Given the description of an element on the screen output the (x, y) to click on. 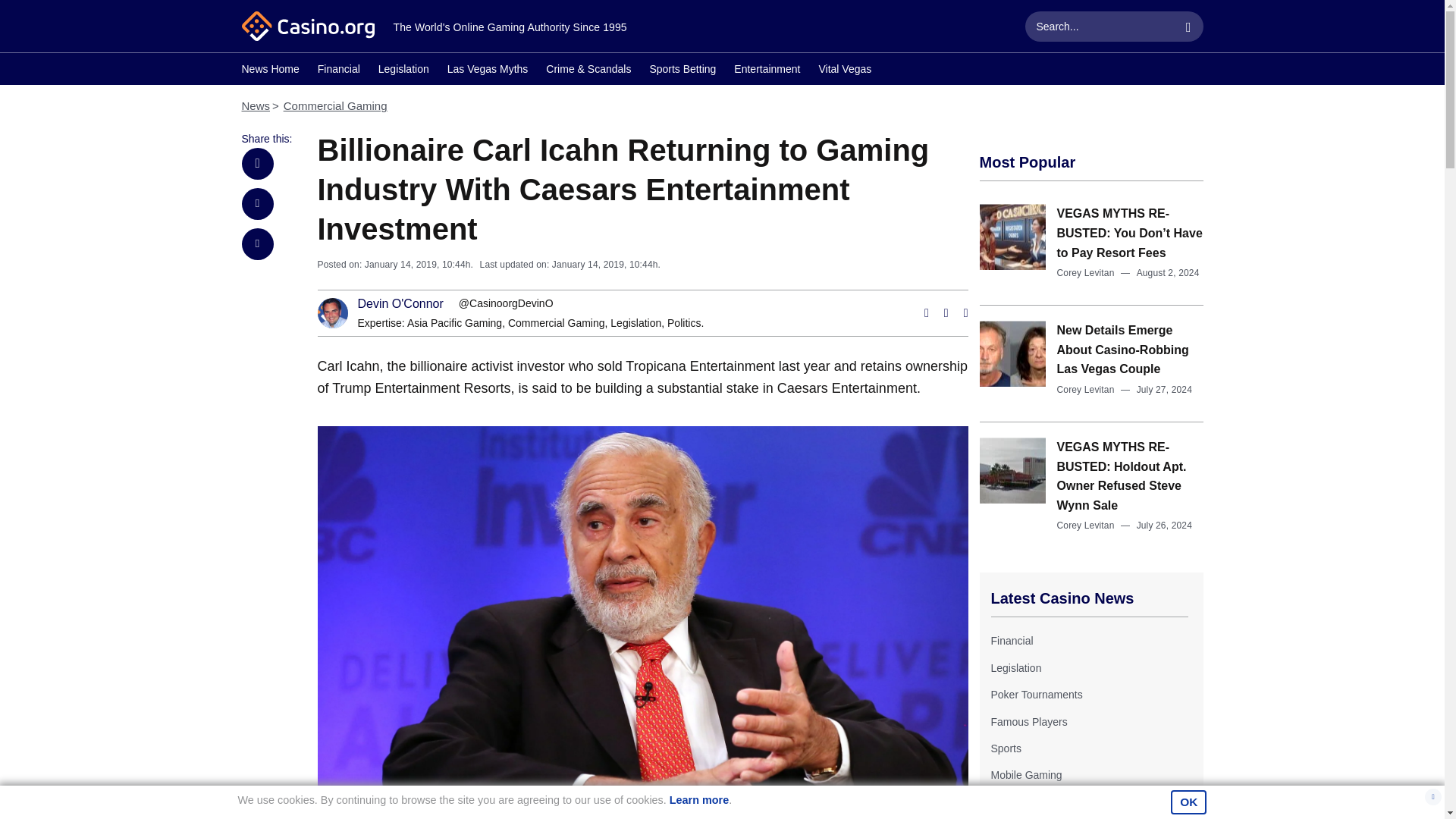
Financial (1011, 640)
Financial (338, 70)
Asia Pacific Gaming (454, 322)
Mobile Gaming (1025, 775)
Legislation (403, 70)
Commercial Gaming (556, 322)
Commercial Gaming (335, 105)
Politics (683, 322)
New Details Emerge About Casino-Robbing Las Vegas Couple (1123, 349)
Famous Players (1028, 721)
Politics (683, 322)
News Home (269, 70)
Legislation (1015, 667)
Las Vegas Myths (487, 70)
Entertainment (766, 70)
